Given the description of an element on the screen output the (x, y) to click on. 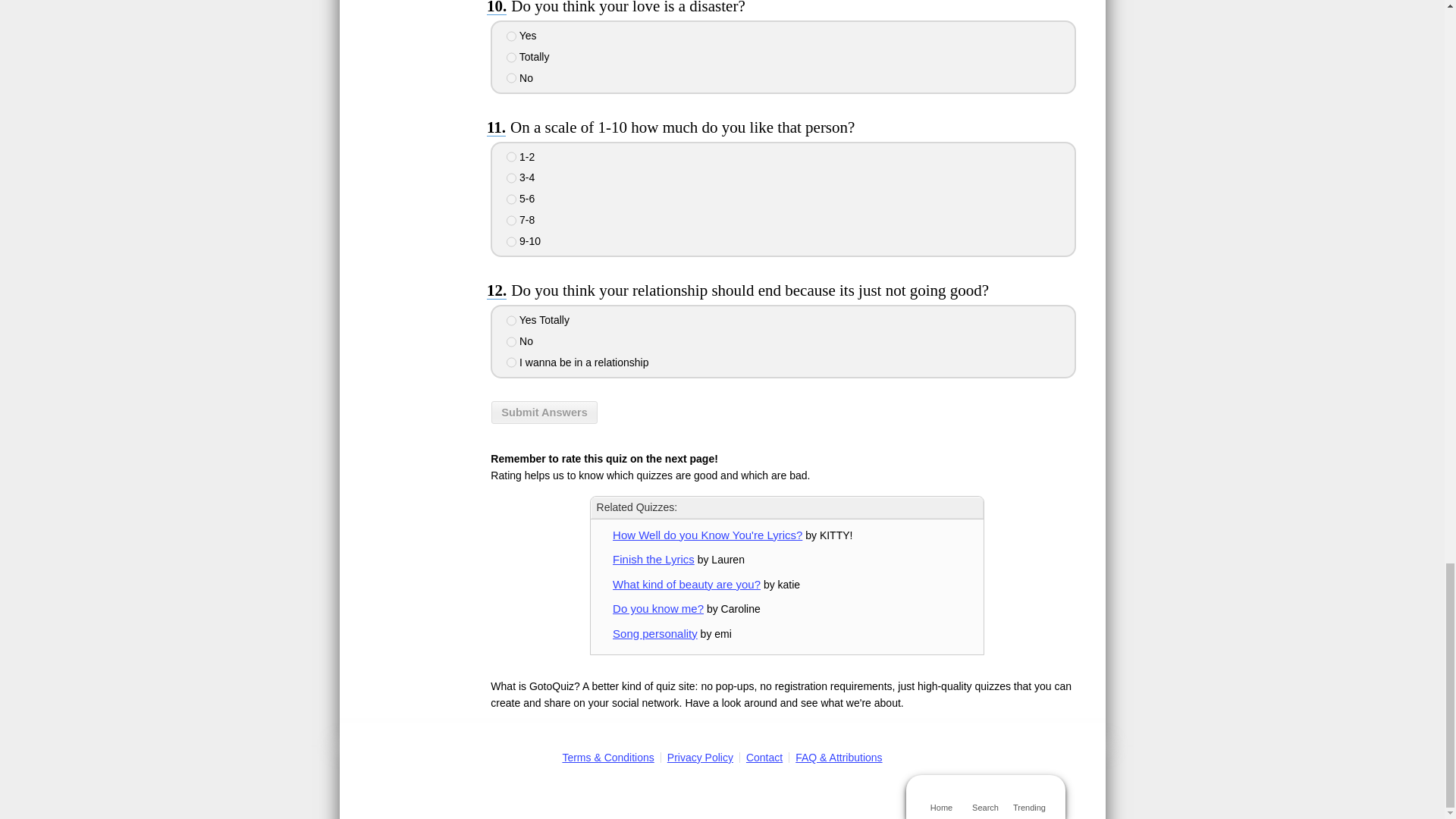
Finish the Lyrics (653, 558)
Do you know me? (657, 608)
Privacy Policy (699, 757)
How Well do you Know You're Lyrics? (707, 534)
Contact (764, 757)
What kind of beauty are you? (686, 584)
Submit Answers (544, 412)
Song personality (654, 633)
